Given the description of an element on the screen output the (x, y) to click on. 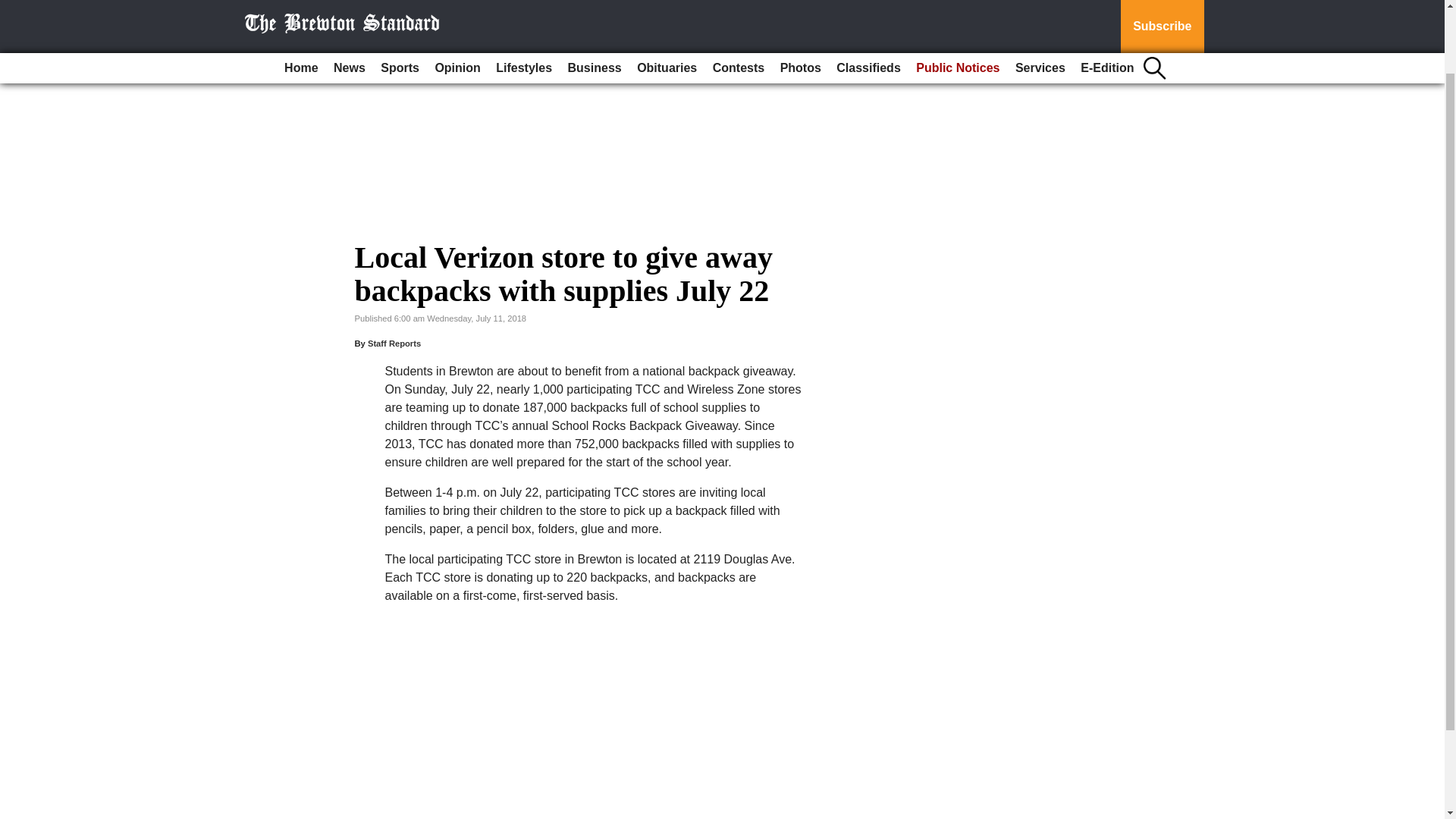
Photos (800, 2)
Home (300, 2)
Business (594, 2)
E-Edition (1107, 2)
Sports (399, 2)
Obituaries (666, 2)
Public Notices (958, 2)
Classifieds (867, 2)
Lifestyles (523, 2)
Contests (738, 2)
